Given the description of an element on the screen output the (x, y) to click on. 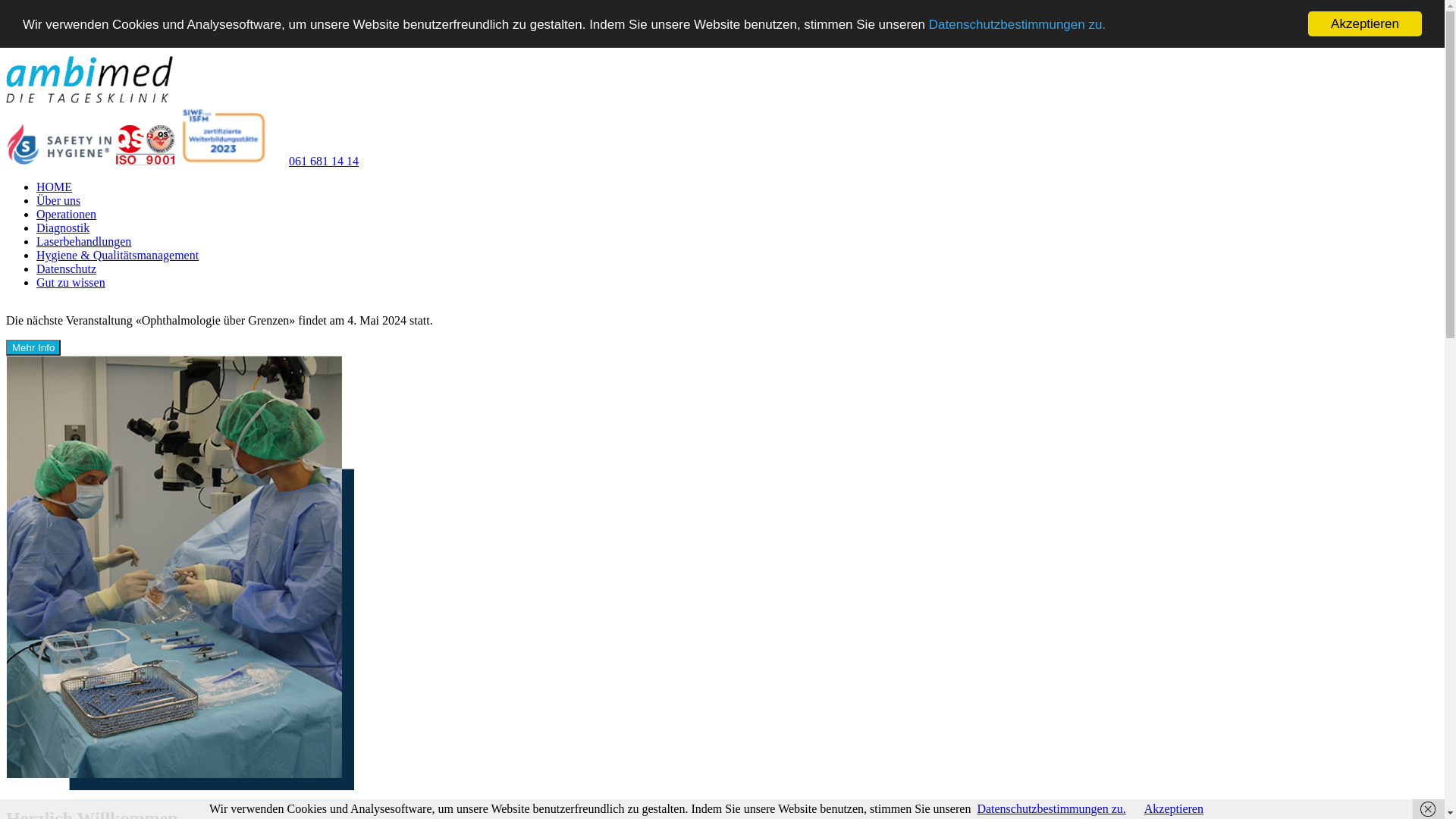
Mehr Info Element type: text (33, 347)
061 681 14 14 Element type: text (315, 160)
Datenschutzbestimmungen zu. Element type: text (1016, 23)
Datenschutzbestimmungen zu. Element type: text (1050, 808)
HOME Element type: text (54, 186)
Akzeptieren Element type: text (1173, 808)
Gut zu wissen Element type: text (70, 282)
Diagnostik Element type: text (62, 227)
Operationen Element type: text (66, 213)
Datenschutz Element type: text (66, 268)
Laserbehandlungen Element type: text (83, 241)
Akzeptieren Element type: text (1364, 23)
